Given the description of an element on the screen output the (x, y) to click on. 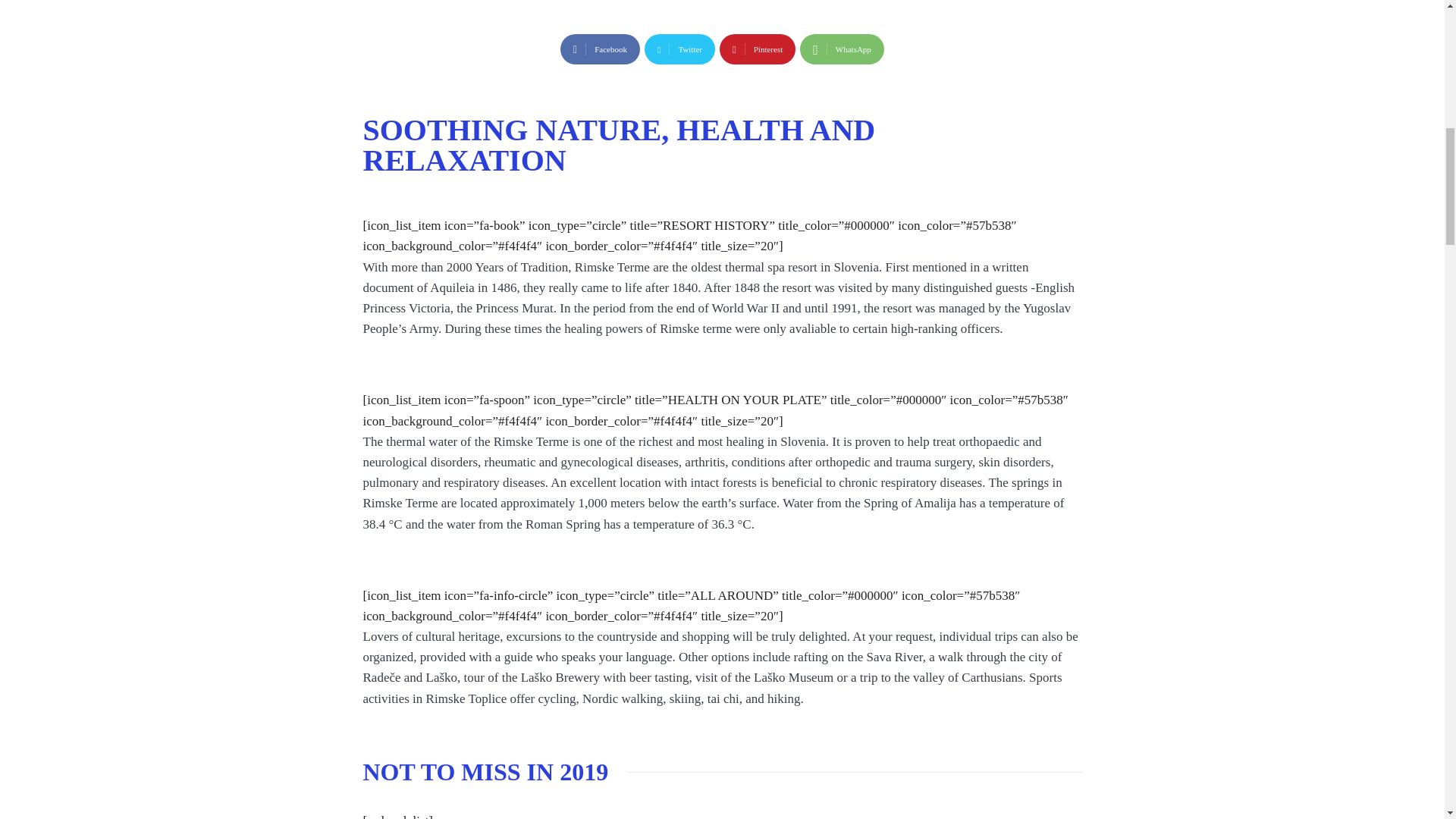
Pinterest (756, 49)
Twitter (679, 49)
WhatsApp (841, 49)
Facebook (600, 49)
